Given the description of an element on the screen output the (x, y) to click on. 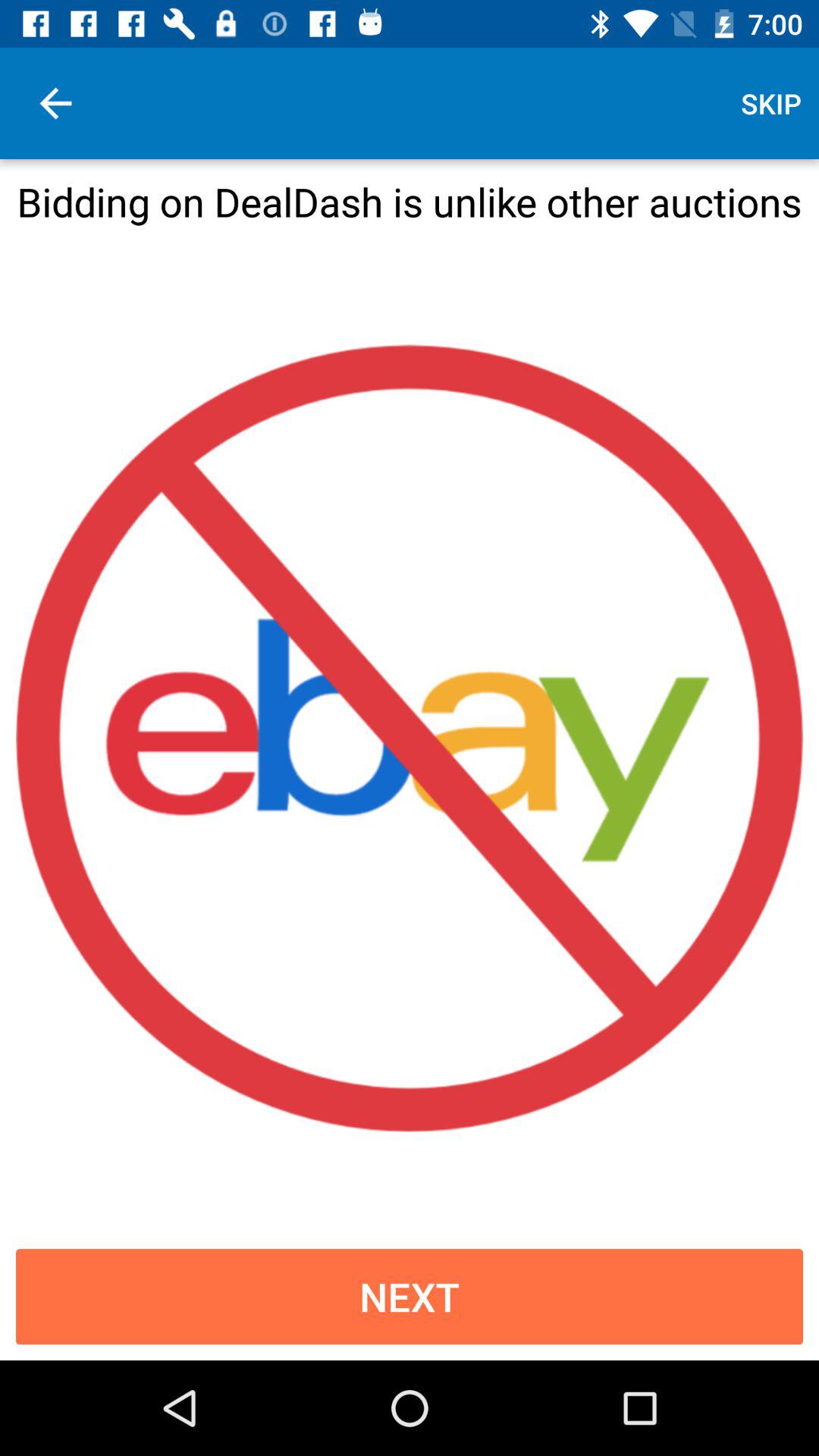
turn on the next (409, 1296)
